Given the description of an element on the screen output the (x, y) to click on. 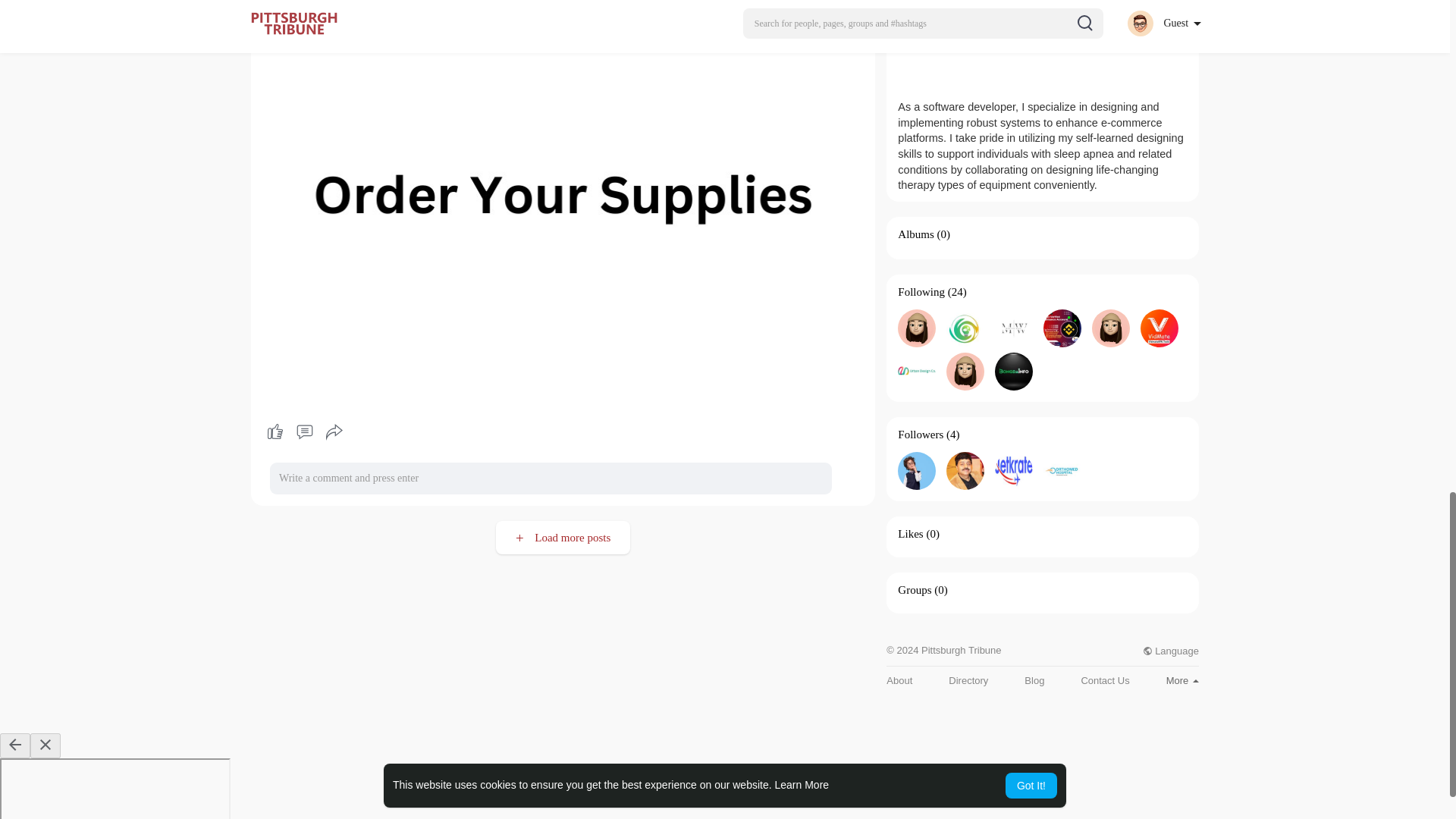
Followers (920, 434)
Comments (304, 432)
Albums (916, 234)
Share (334, 432)
Following (921, 291)
